Given the description of an element on the screen output the (x, y) to click on. 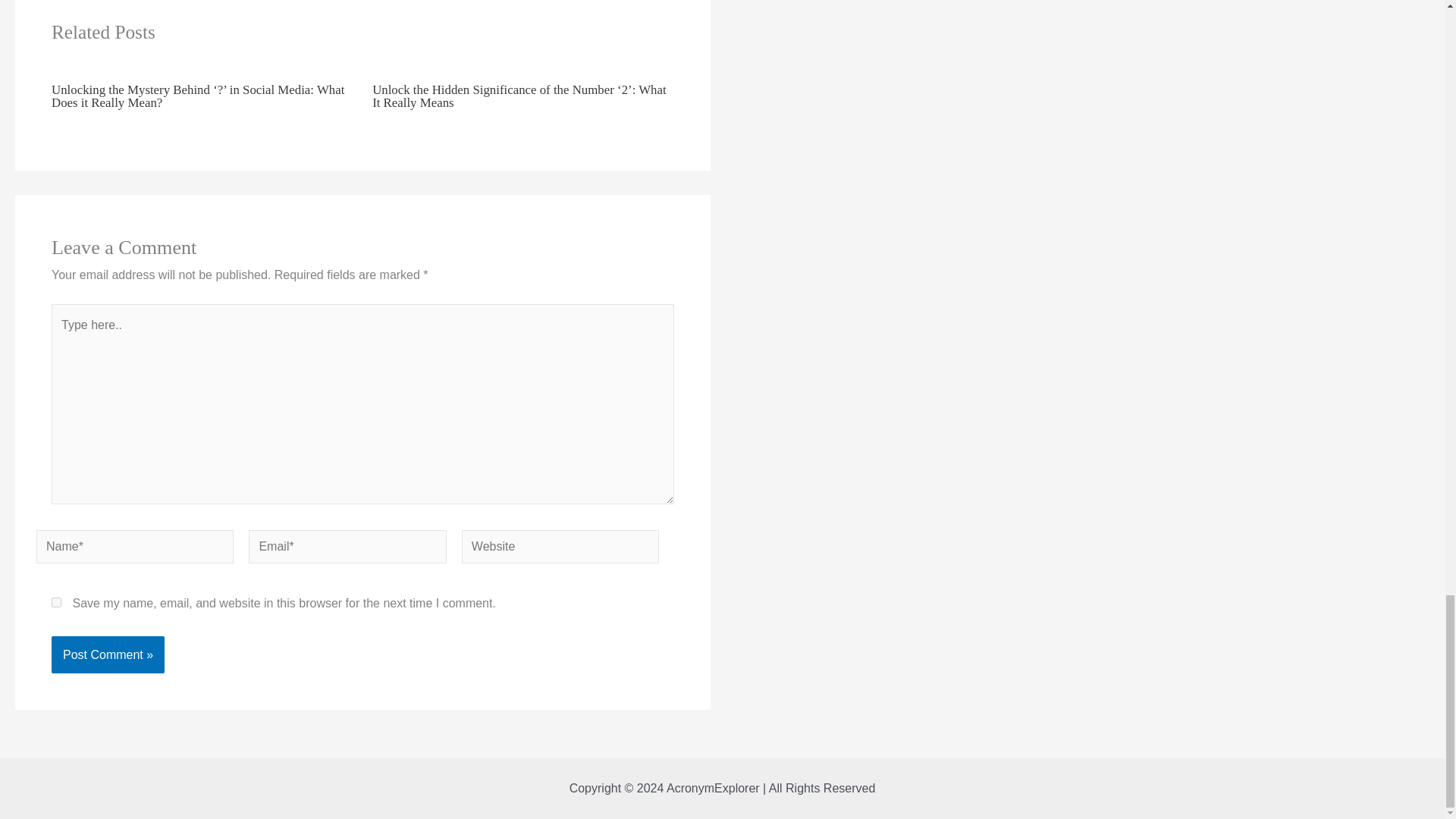
yes (55, 602)
